Given the description of an element on the screen output the (x, y) to click on. 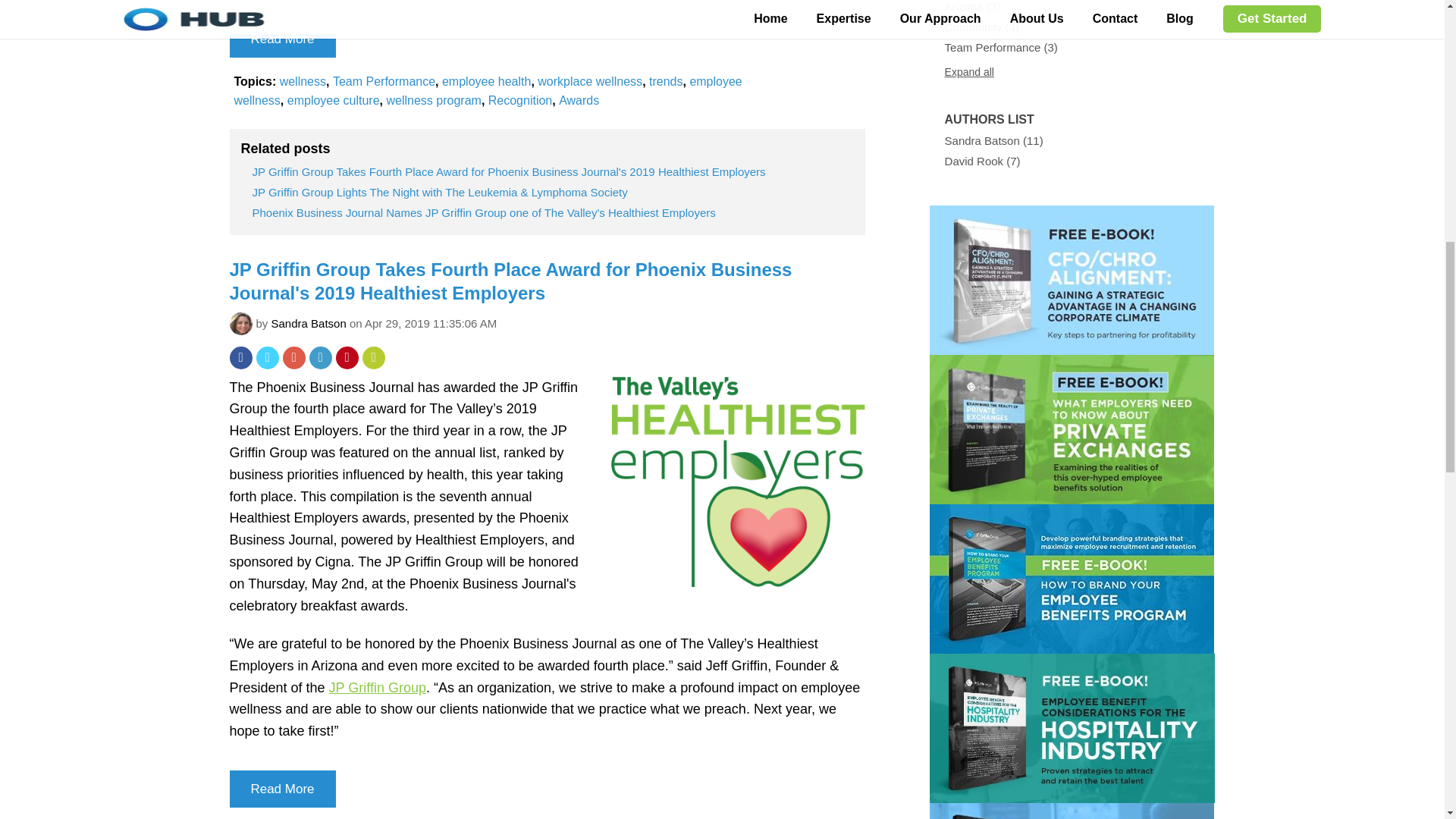
Send on this page URL via email (373, 357)
Share this page on Twitter (267, 357)
wellness (302, 80)
Share this page on Facebook (239, 357)
Share this page on Google Plus (293, 357)
workplace wellness (589, 80)
employee health (486, 80)
Read More (281, 37)
Share this page on LinkedIn (319, 357)
trends (665, 80)
